Given the description of an element on the screen output the (x, y) to click on. 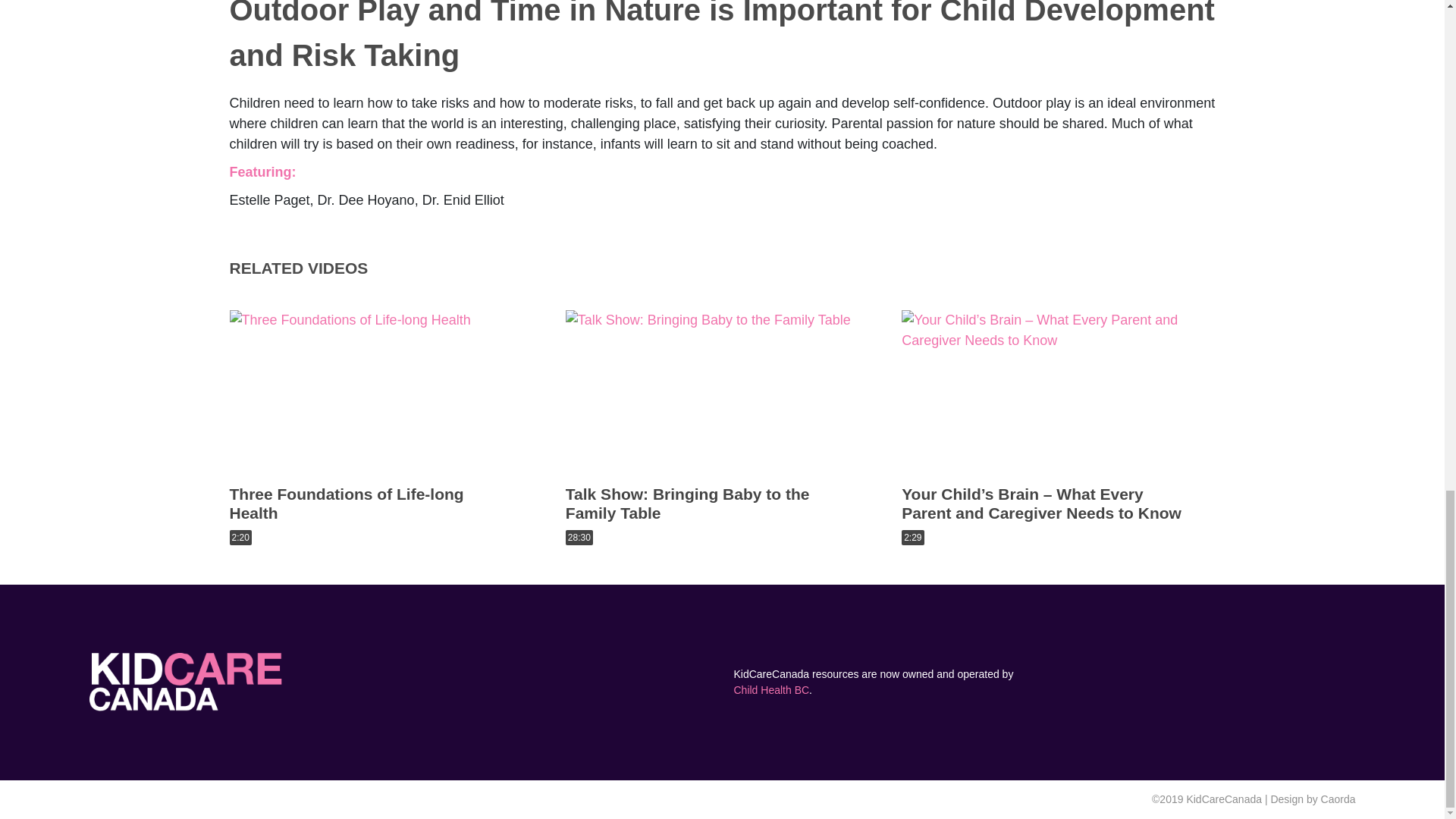
Three Foundations of Life-long Health (345, 503)
Talk Show: Bringing Baby to the Family Table (687, 503)
Child Health BC (771, 689)
